Given the description of an element on the screen output the (x, y) to click on. 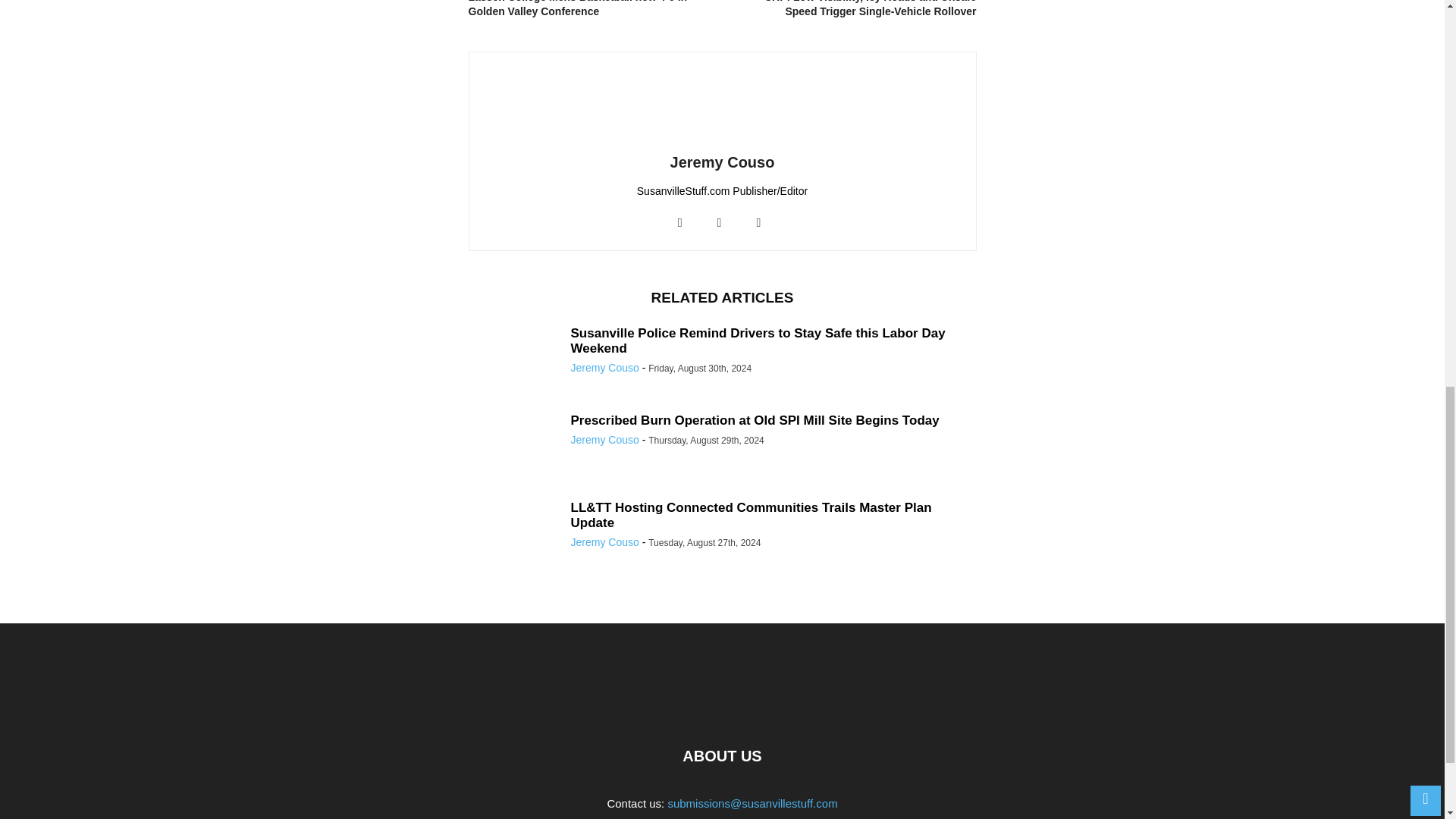
Prescribed Burn Operation at Old SPI Mill Site Begins Today (754, 420)
Prescribed Burn Operation at Old SPI Mill Site Begins Today (513, 458)
Facebook (680, 223)
Jeremy Couso (721, 161)
Jeremy Couso (604, 439)
Instagram (718, 223)
Prescribed Burn Operation at Old SPI Mill Site Begins Today (754, 420)
